Given the description of an element on the screen output the (x, y) to click on. 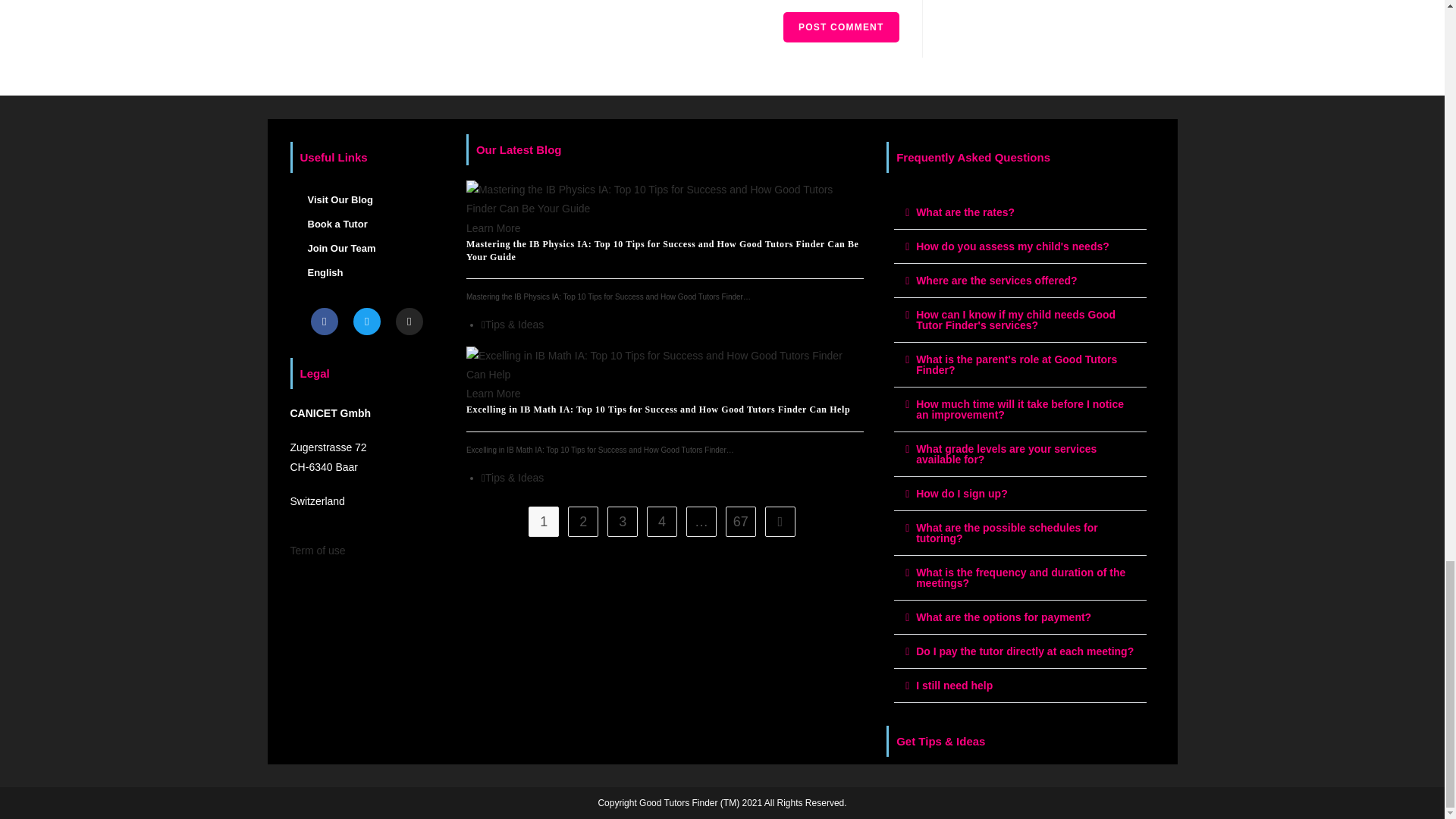
Post Comment (840, 27)
Post Comment (840, 27)
Visit Our Blog (365, 200)
